Given the description of an element on the screen output the (x, y) to click on. 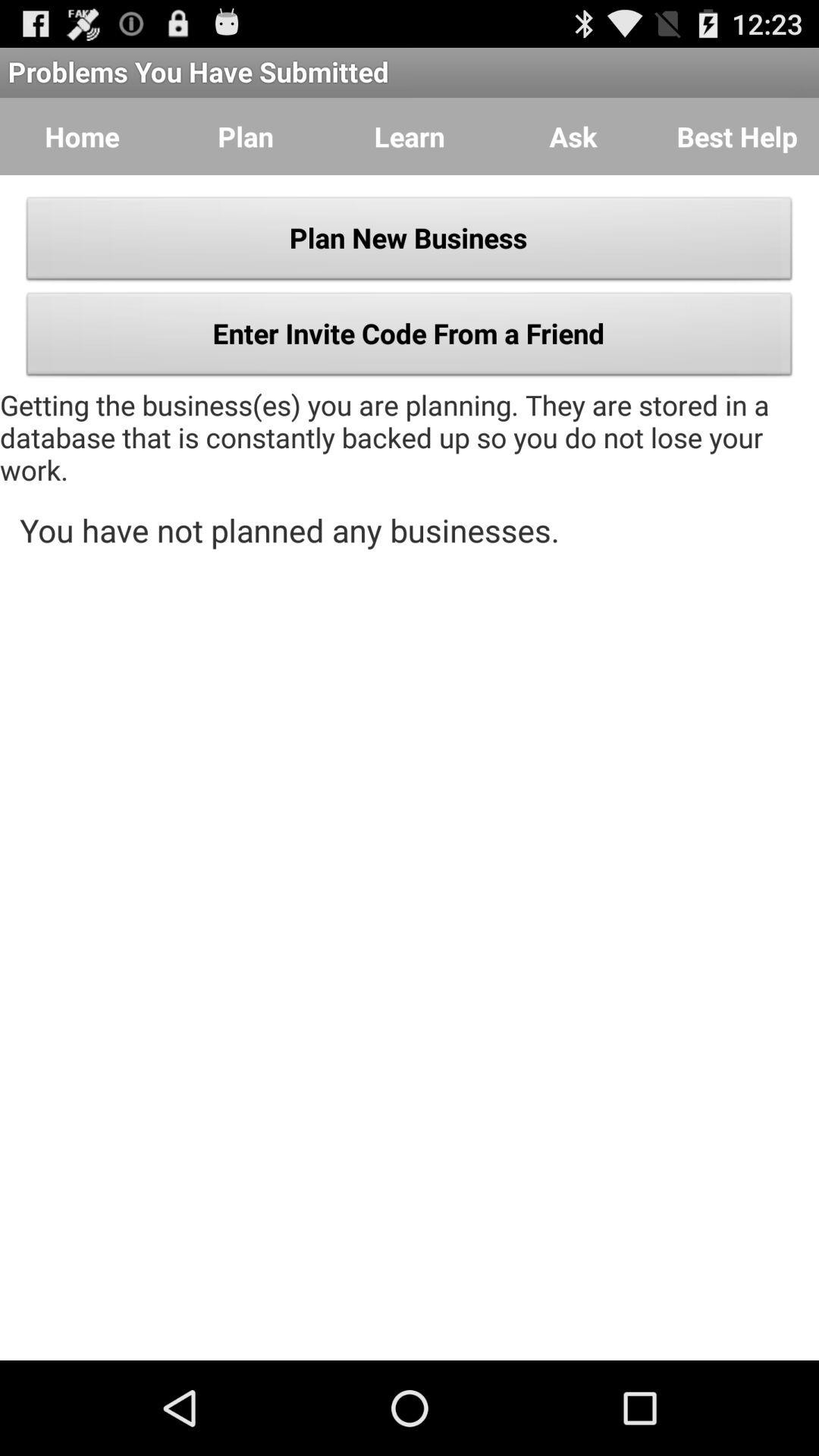
scroll to the ask icon (573, 136)
